Given the description of an element on the screen output the (x, y) to click on. 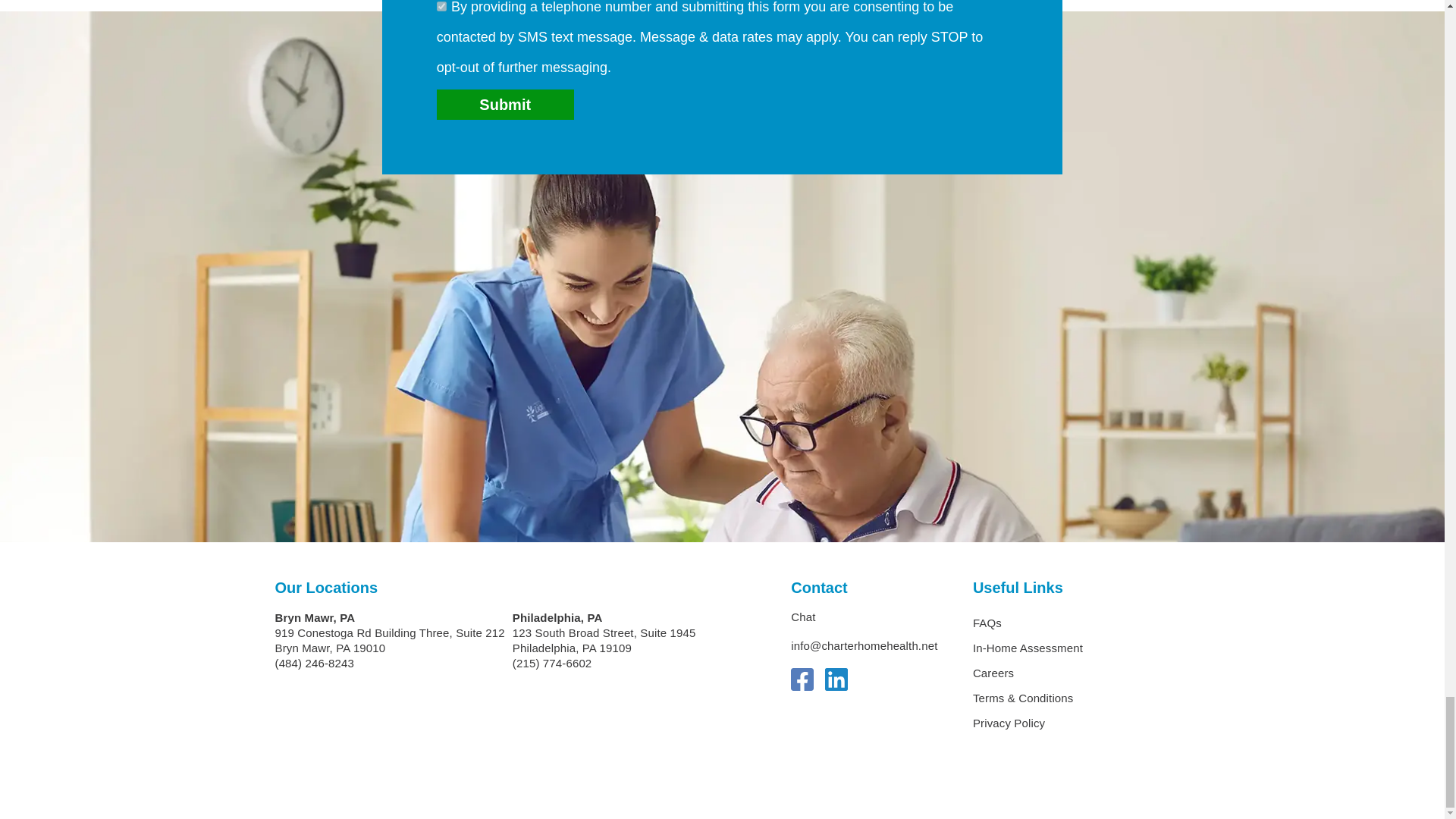
on (441, 6)
